Given the description of an element on the screen output the (x, y) to click on. 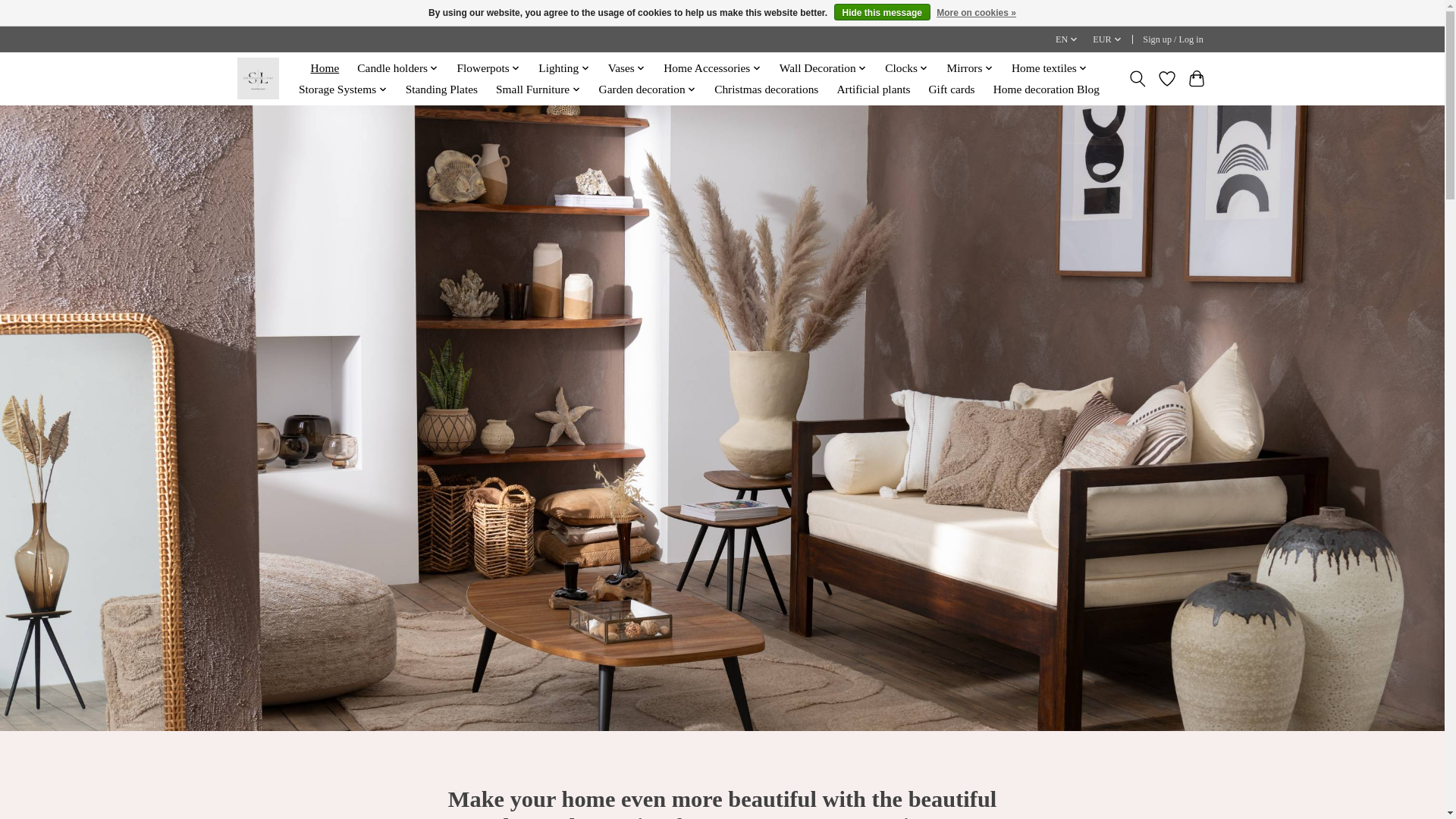
Candle holders (398, 67)
Most beautiful home decoration for your home  (256, 78)
Flowerpots (488, 67)
EN (1067, 39)
Wall Decoration (823, 67)
EUR (1107, 39)
Vases (626, 67)
Home Accessories (712, 67)
Home (323, 67)
My account (1173, 39)
